Given the description of an element on the screen output the (x, y) to click on. 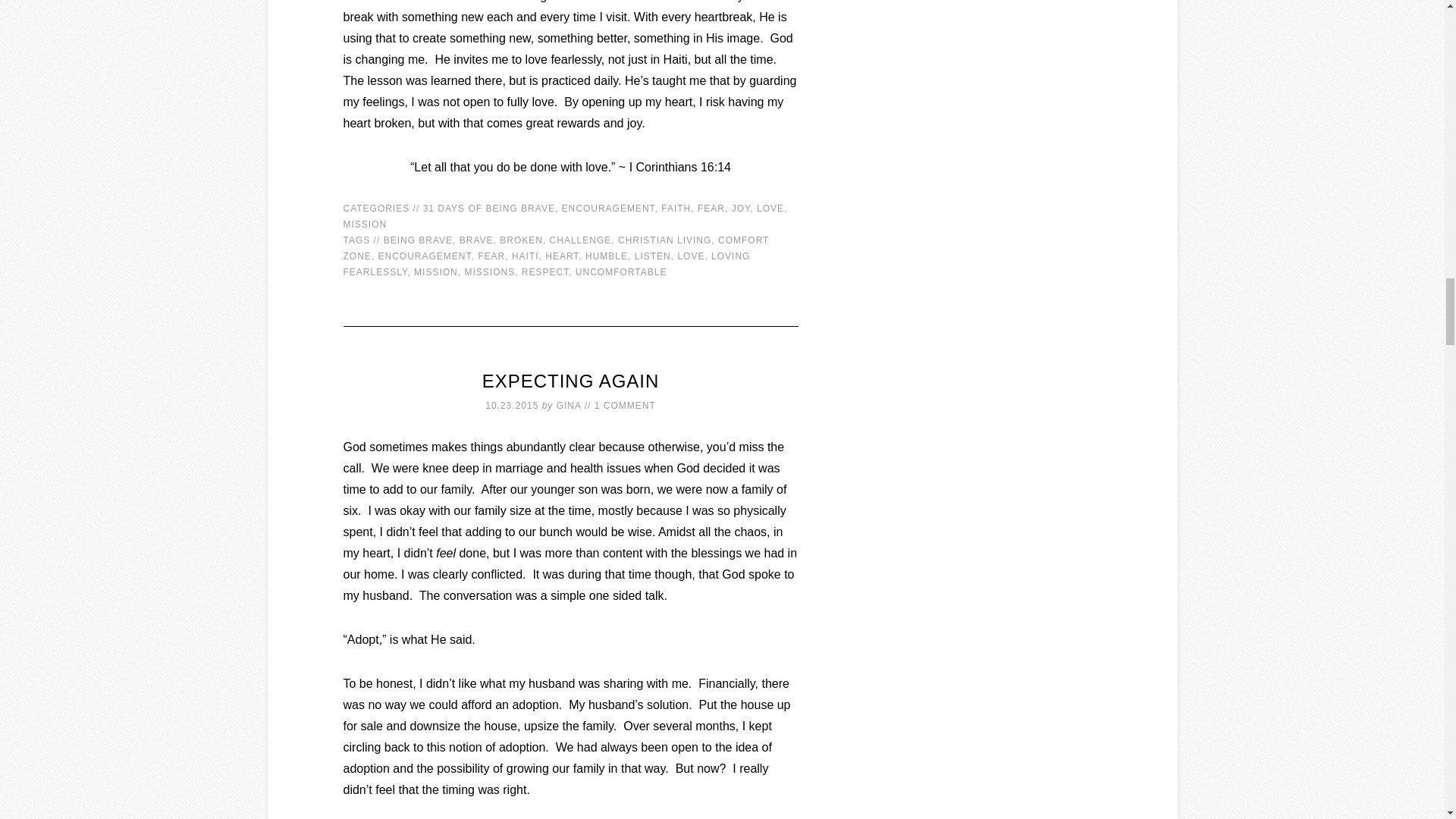
LOVE (770, 208)
LOVE (690, 255)
ENCOURAGEMENT (608, 208)
LISTEN (652, 255)
CHRISTIAN LIVING (664, 240)
JOY (741, 208)
ENCOURAGEMENT (424, 255)
FEAR (491, 255)
COMFORT ZONE (555, 248)
CHALLENGE (580, 240)
